Given the description of an element on the screen output the (x, y) to click on. 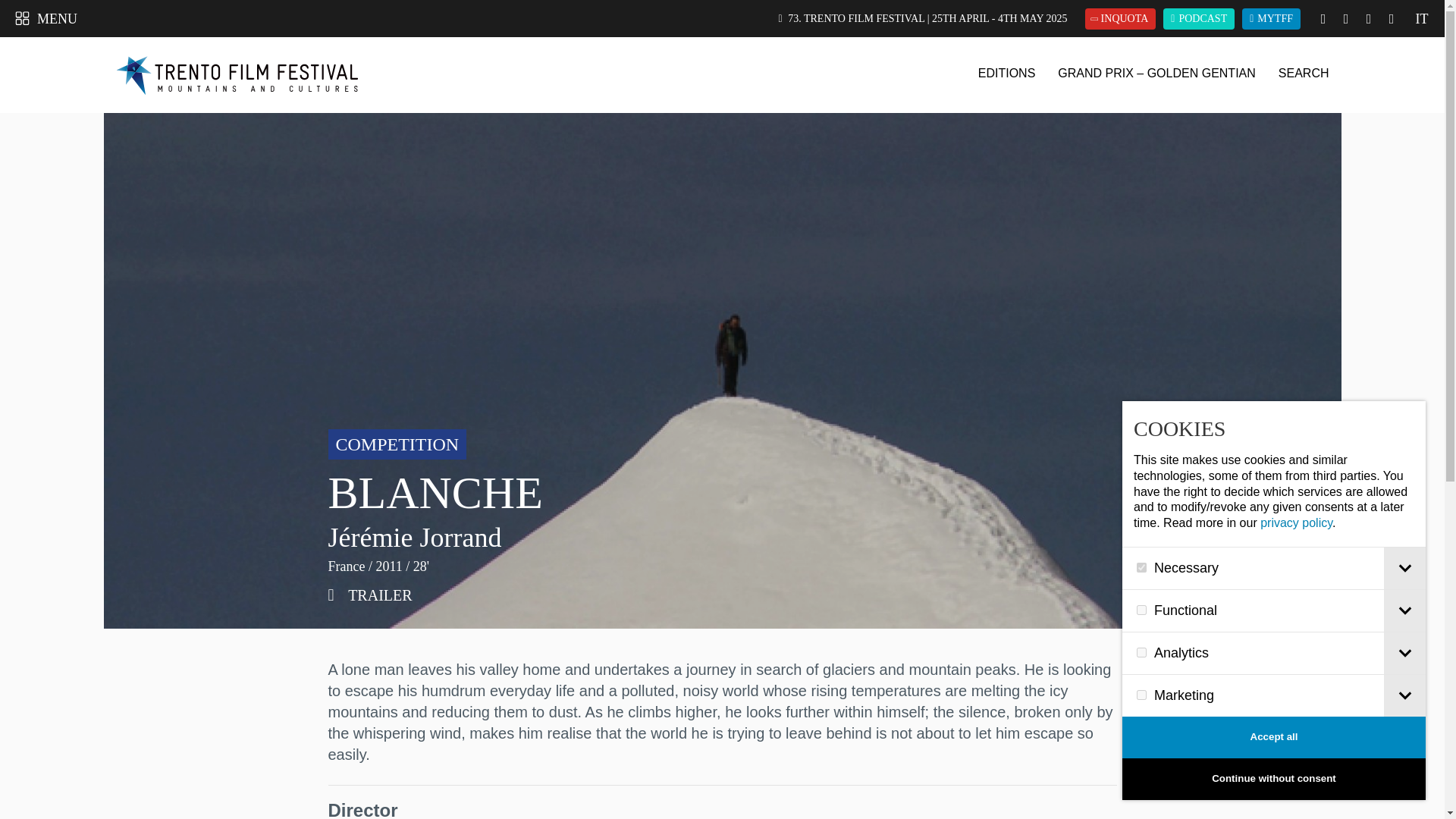
necessary (1142, 567)
COMPETITION (396, 444)
Accept all (1273, 737)
functional (1142, 610)
EDITIONS (1006, 72)
MYTFF (1270, 17)
BLANCHE (369, 595)
analytics (1142, 652)
Continue without consent (1273, 779)
MENU (45, 17)
